Given the description of an element on the screen output the (x, y) to click on. 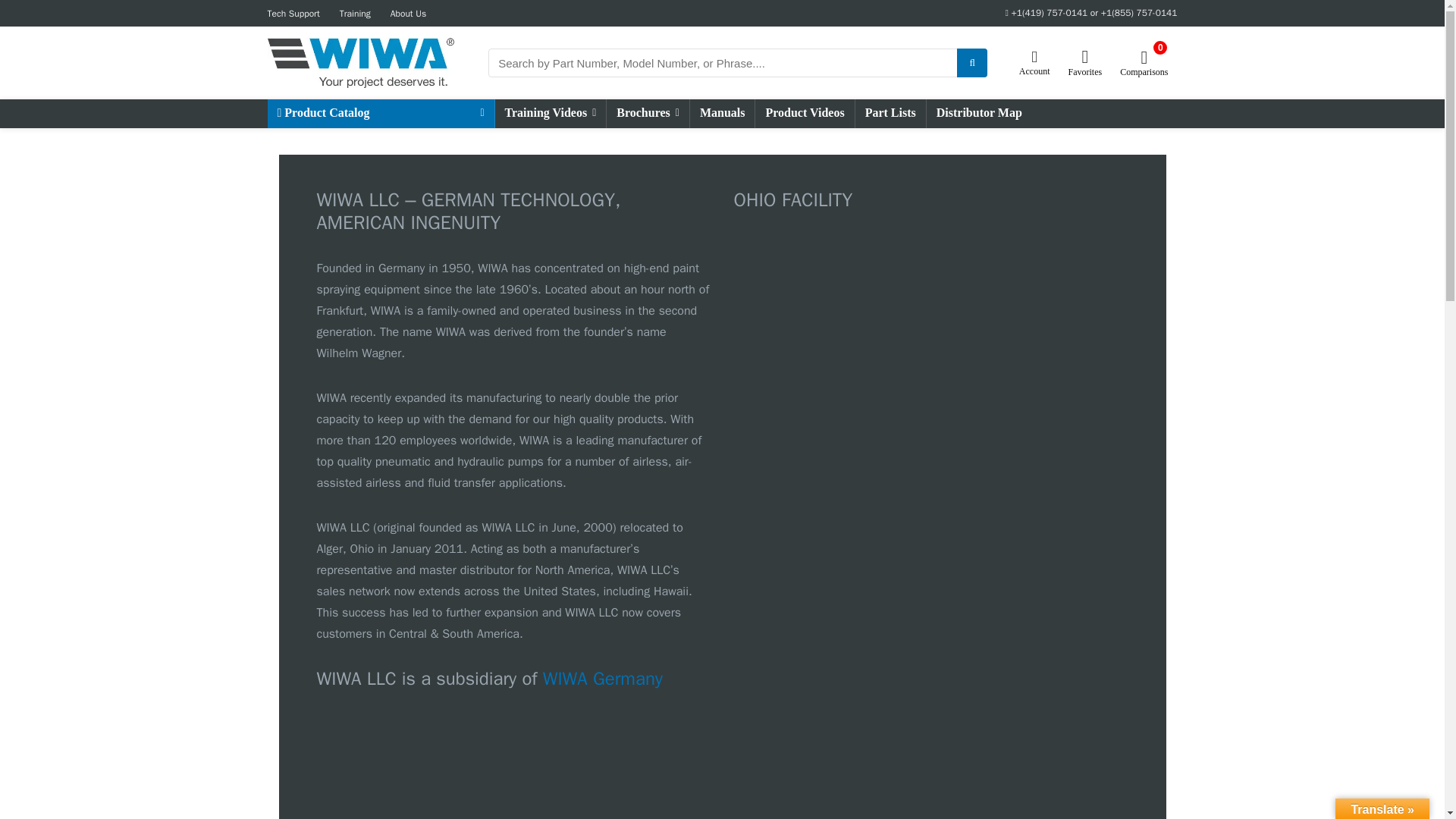
Product Catalog (379, 113)
Brochures (647, 113)
About Us (408, 13)
Product Videos (804, 113)
Training Videos (550, 113)
Training (355, 13)
Distributor Map (979, 113)
Manuals (722, 113)
Part Lists (891, 113)
Tech Support (292, 13)
